Given the description of an element on the screen output the (x, y) to click on. 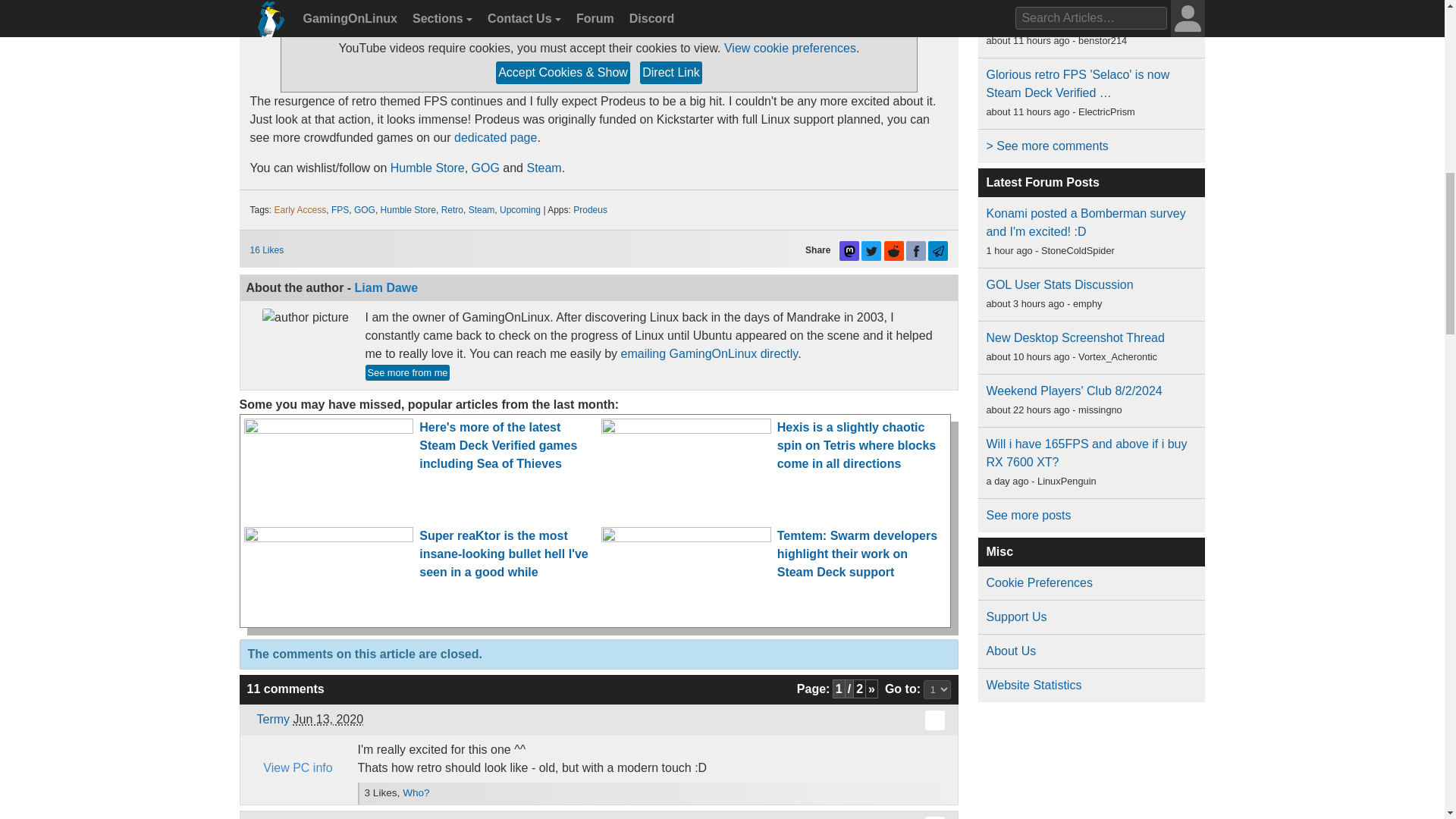
Link to this comment (934, 720)
Link to this comment (934, 817)
Share to Mastodon (849, 250)
